Given the description of an element on the screen output the (x, y) to click on. 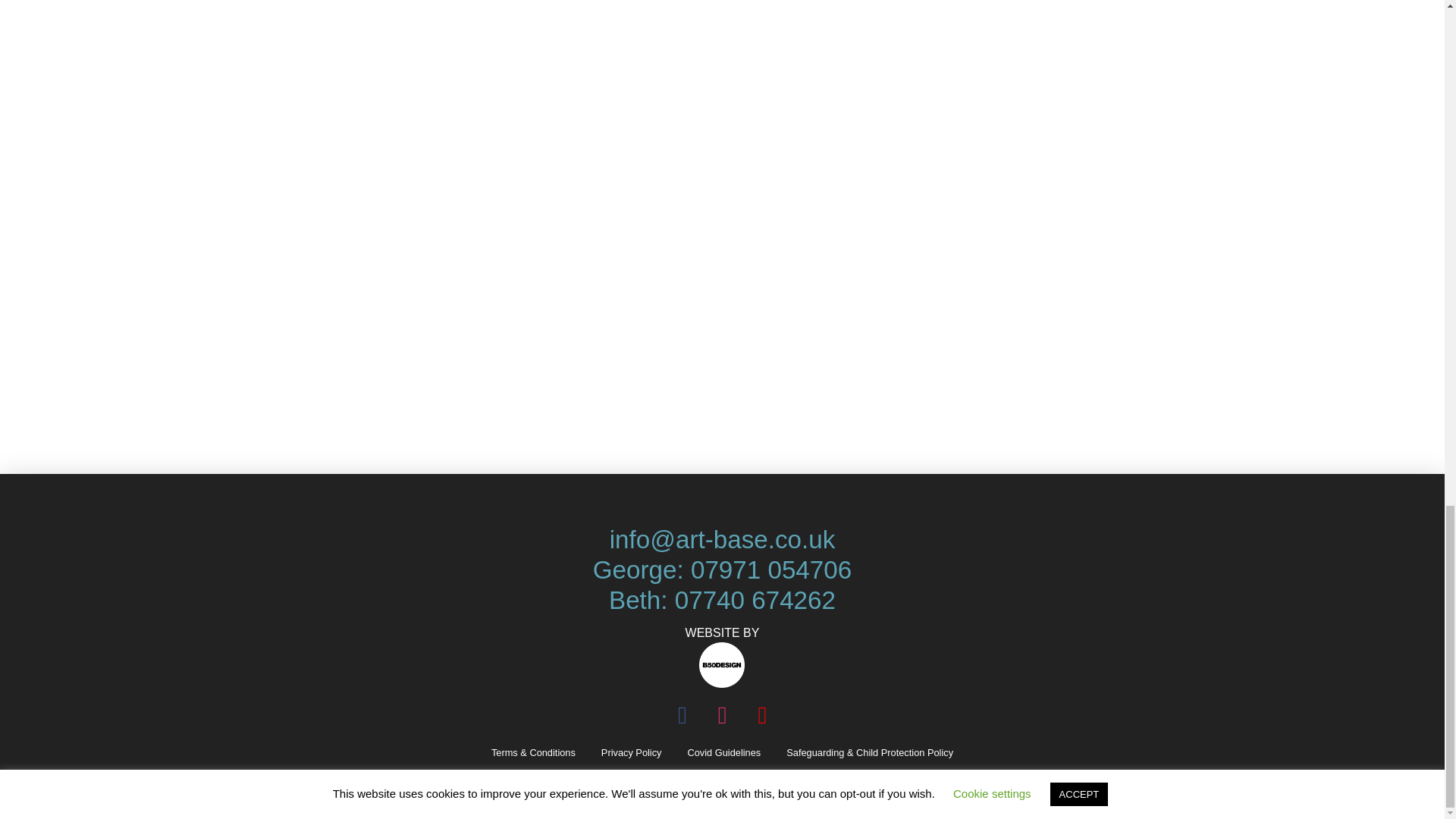
Beth: 07740 674262 (721, 600)
George: 07971 054706 (721, 569)
Covid Guidelines (724, 753)
Privacy Policy (631, 753)
Login (417, 327)
